Given the description of an element on the screen output the (x, y) to click on. 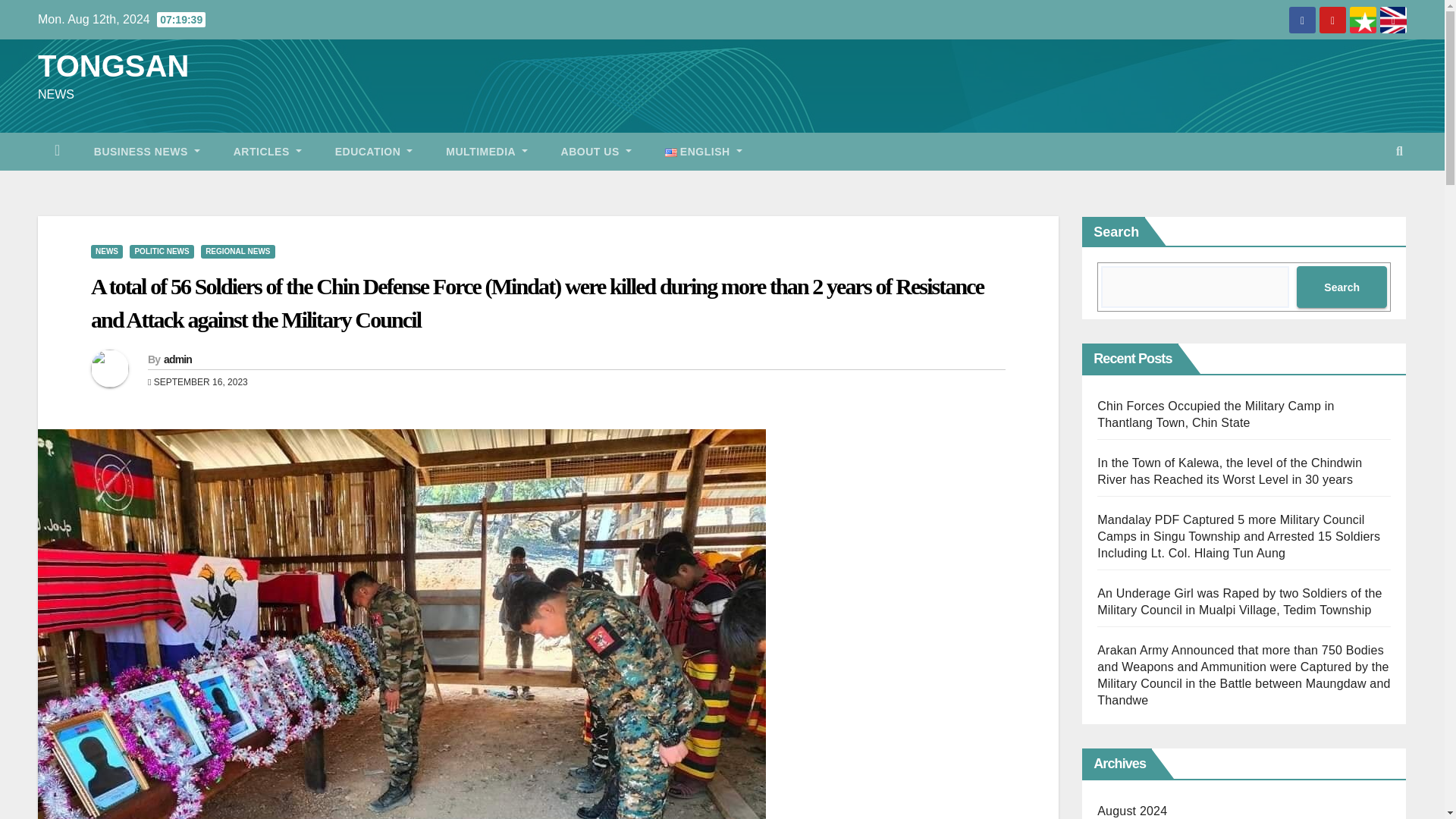
Business News (146, 151)
ABOUT US (595, 151)
TONGSAN (113, 65)
EDUCATION (373, 151)
MULTIMEDIA (486, 151)
POLITIC NEWS (161, 251)
Articles (267, 151)
Multimedia (486, 151)
NEWS (106, 251)
ENGLISH (702, 151)
